Given the description of an element on the screen output the (x, y) to click on. 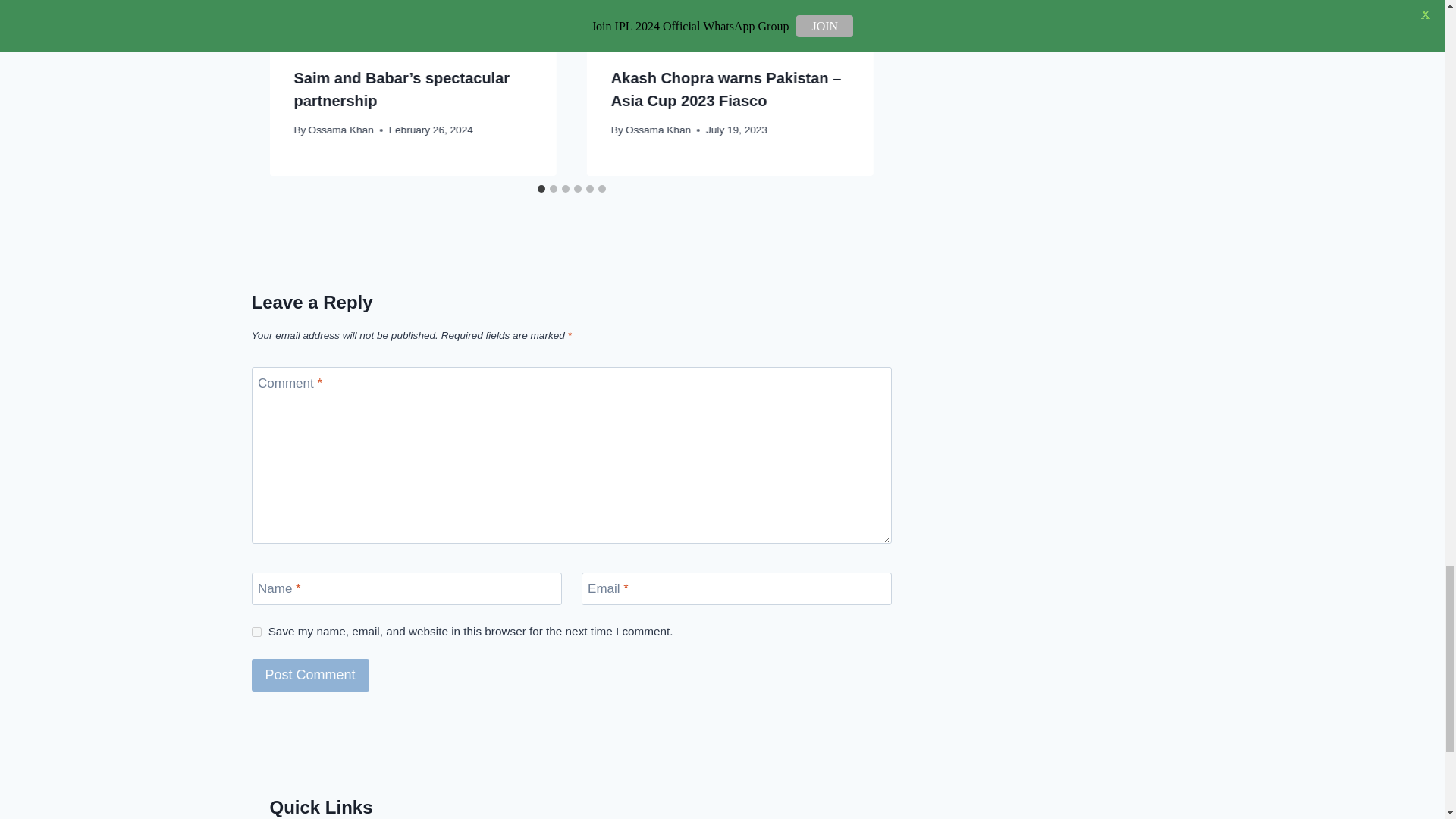
Post Comment (310, 674)
yes (256, 632)
